Given the description of an element on the screen output the (x, y) to click on. 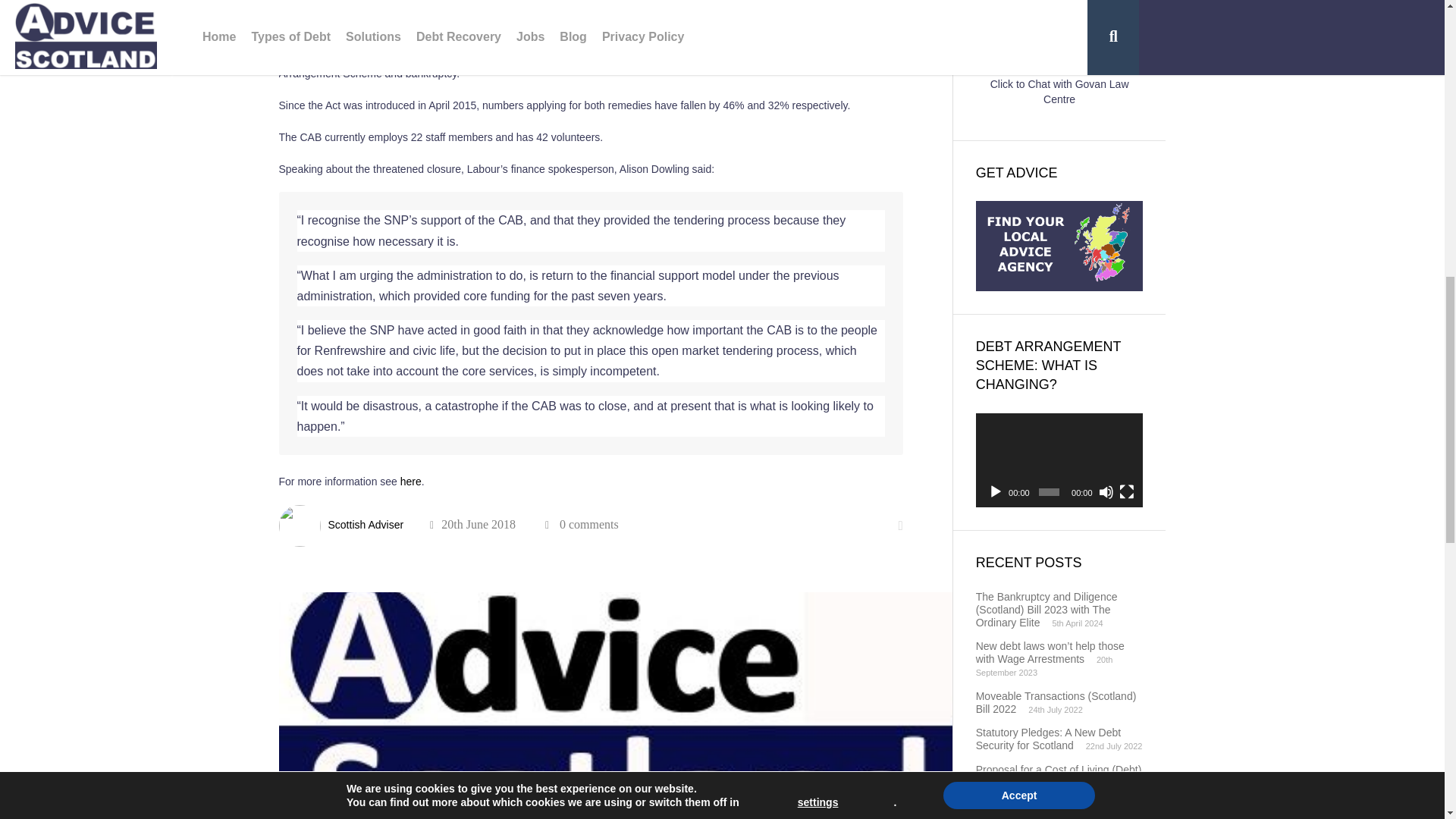
View all posts by Scottish Adviser (365, 524)
Mute (1106, 491)
GET ADVICE (1058, 245)
7:48 pm (472, 524)
Play (995, 491)
